Given the description of an element on the screen output the (x, y) to click on. 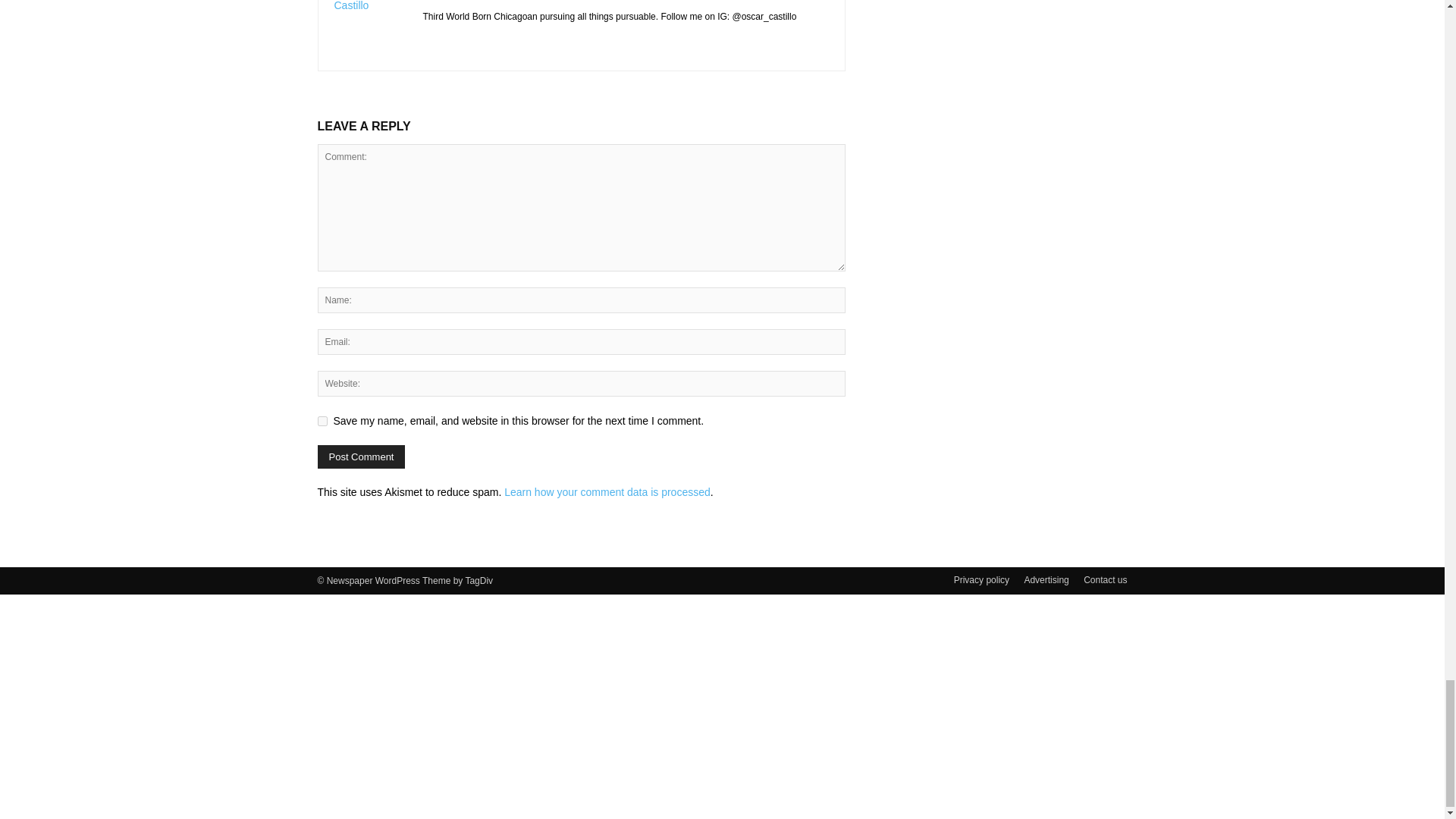
yes (321, 420)
Post Comment (360, 456)
